Given the description of an element on the screen output the (x, y) to click on. 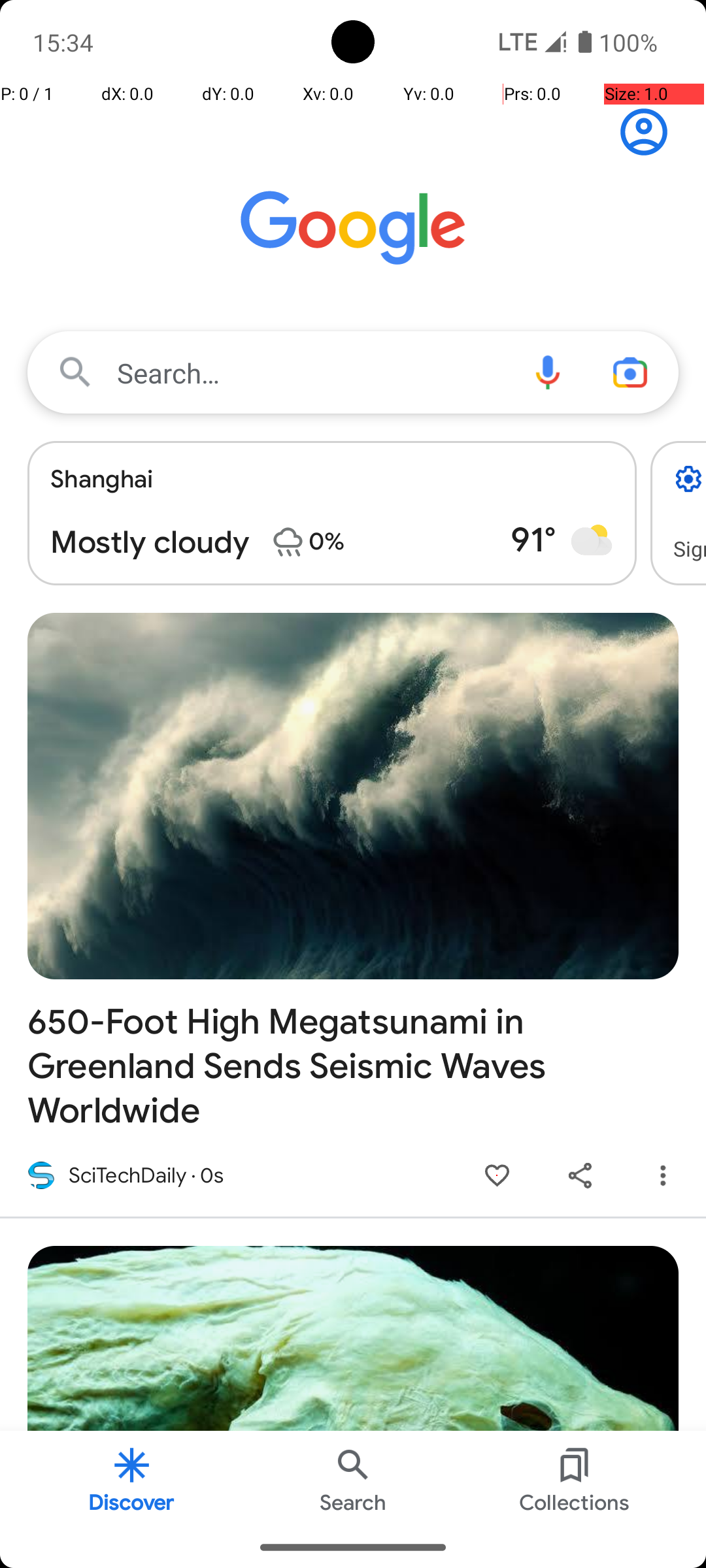
Sign in Element type: android.widget.FrameLayout (650, 131)
Camera search Element type: android.widget.ImageButton (629, 372)
Collections Button Element type: android.widget.FrameLayout (574, 1478)
Like Element type: android.view.ViewGroup (497, 1175)
Share 650-Foot High Megatsunami in Greenland Sends Seismic Waves Worldwide Element type: android.view.ViewGroup (580, 1175)
Chance of precipitation Element type: android.widget.ImageView (287, 541)
